Given the description of an element on the screen output the (x, y) to click on. 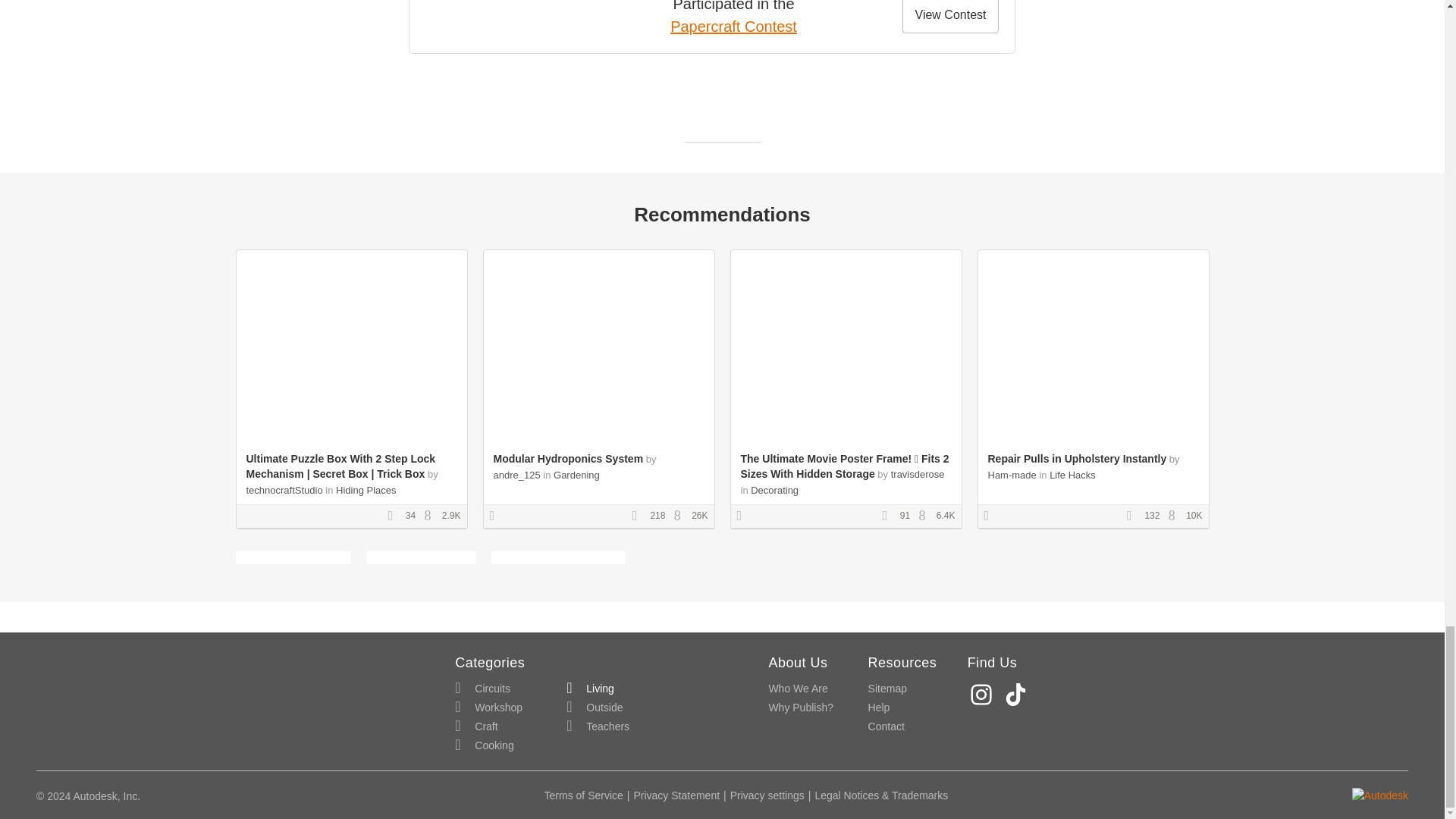
Favorites Count (889, 516)
Papercraft Contest (732, 26)
Contest Winner (497, 516)
travisderose (917, 473)
Gardening (576, 474)
Modular Hydroponics System (568, 458)
Repair Pulls in Upholstery Instantly (1076, 458)
Views Count (431, 516)
TikTok (1018, 694)
Favorites Count (1133, 516)
